Given the description of an element on the screen output the (x, y) to click on. 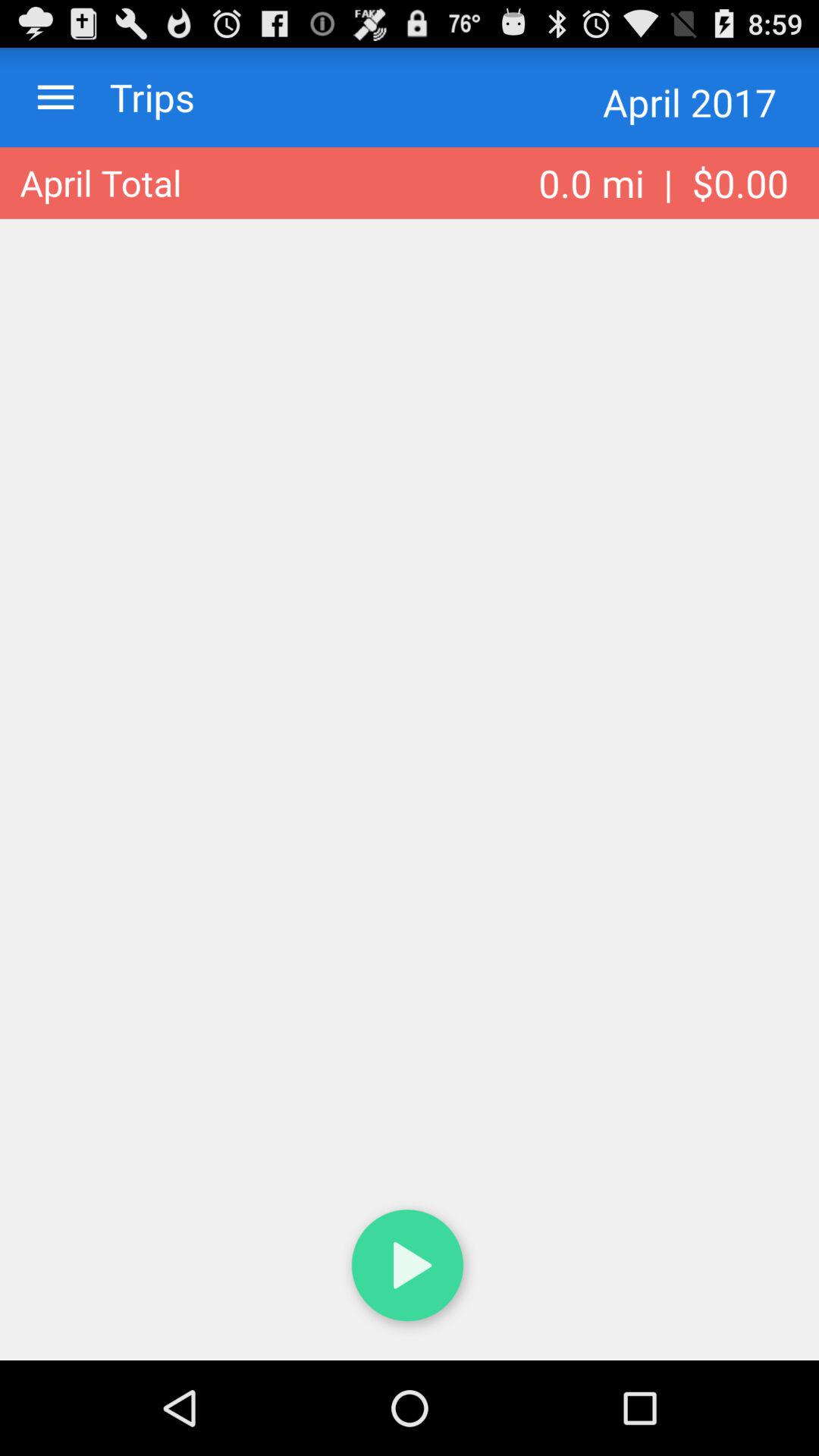
launch item to the left of trips item (55, 97)
